Given the description of an element on the screen output the (x, y) to click on. 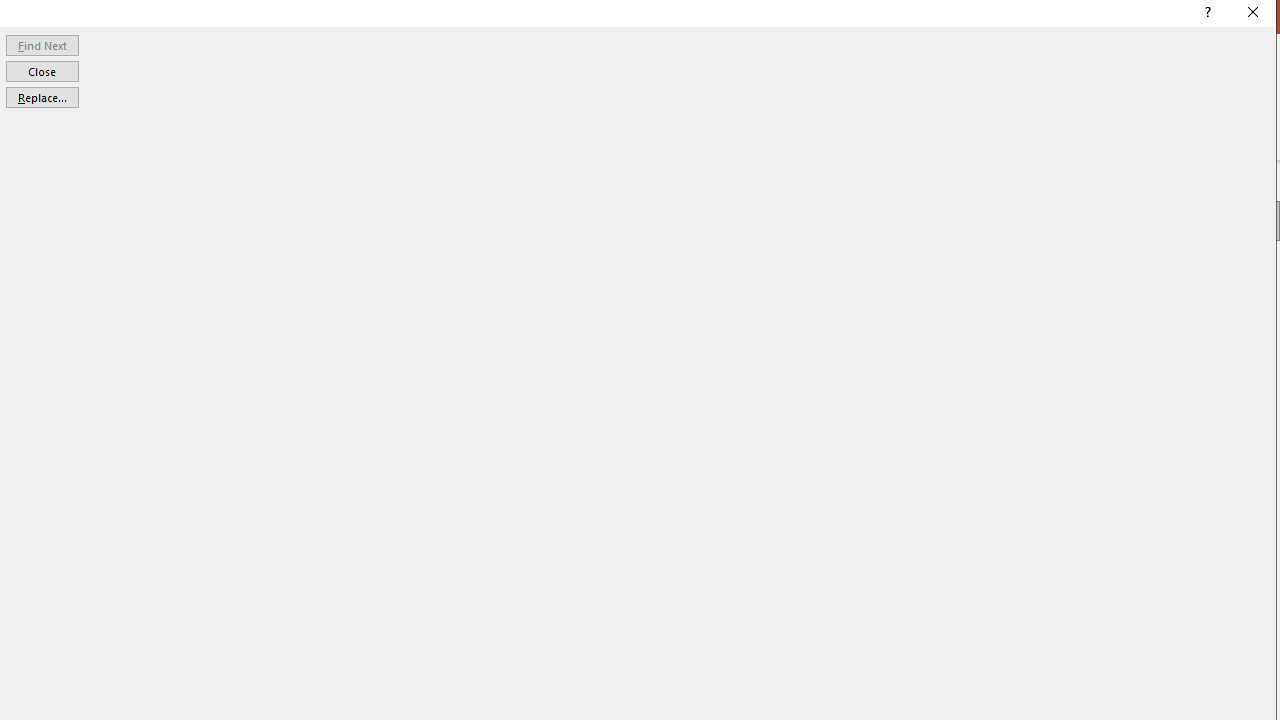
Find Next (42, 44)
Context help (1206, 14)
